Given the description of an element on the screen output the (x, y) to click on. 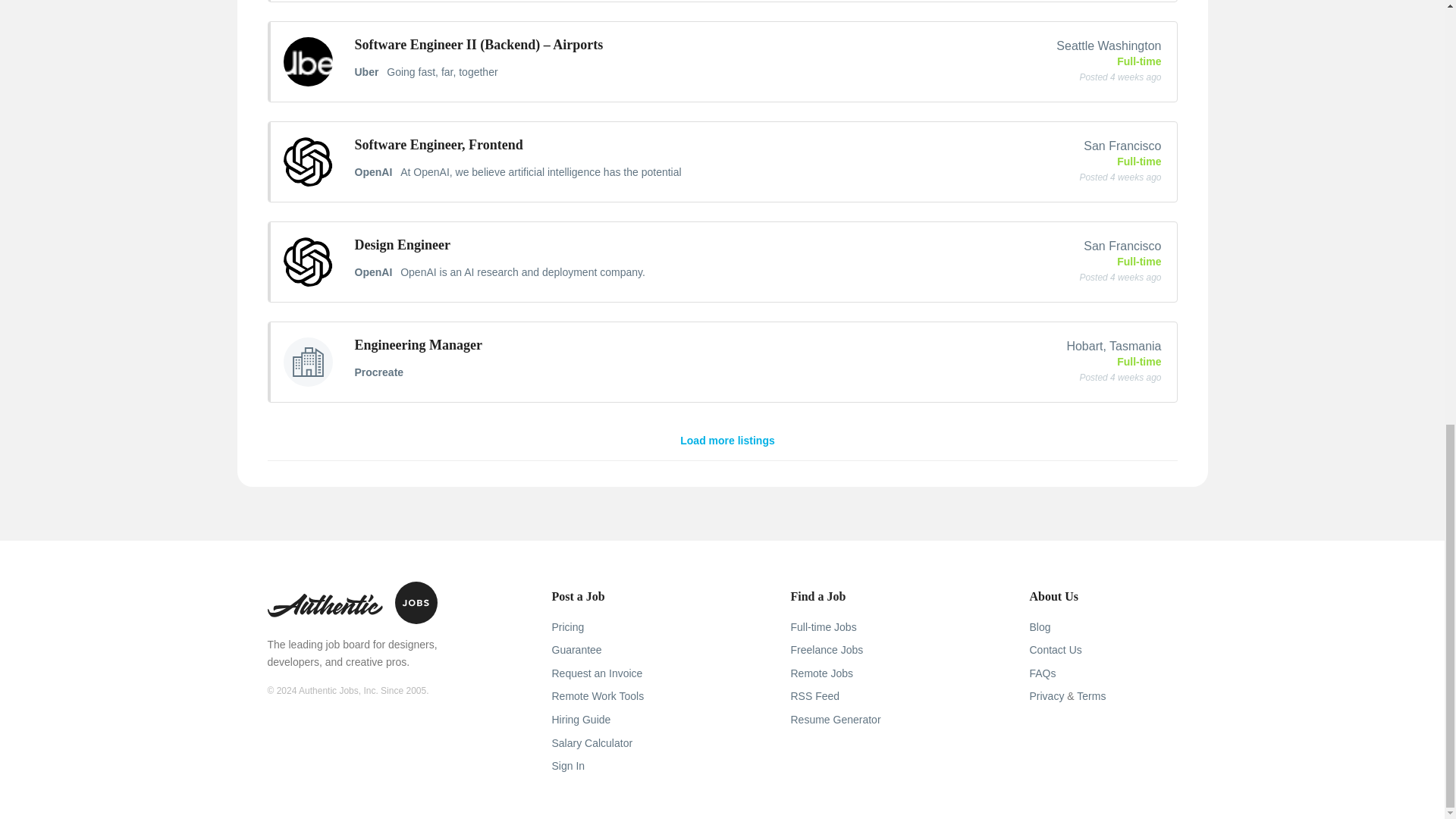
Freelance Jobs (826, 649)
RSS Feed (815, 695)
About Us (1053, 595)
Salary Calculator (592, 743)
Pricing (568, 626)
Full-time Jobs (823, 626)
Hiring Guide (581, 719)
Remote Work Tools (598, 695)
